Given the description of an element on the screen output the (x, y) to click on. 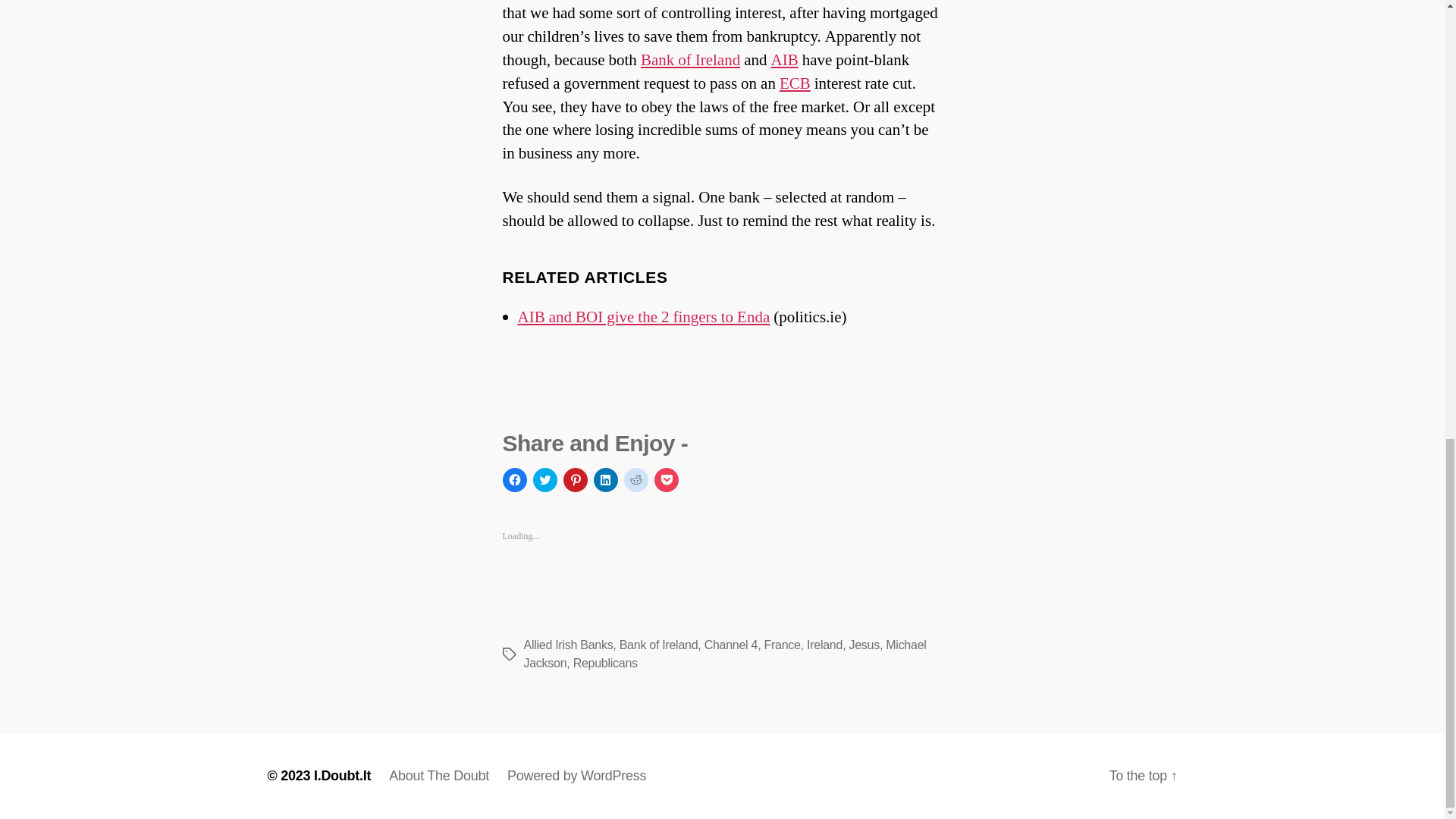
Allied Irish Banks (567, 644)
Click to share on Reddit (635, 479)
Click to share on Facebook (513, 479)
Click to share on Twitter (544, 479)
Allied Irish Banks (783, 59)
Bank of Ireland (689, 59)
Like or Reblog (722, 585)
Bank of Ireland (689, 59)
AIB (783, 59)
Click to share on Pocket (665, 479)
Click to share on LinkedIn (604, 479)
ECB (794, 83)
AIB and BOI give the 2 fingers to Enda (643, 317)
Click to share on Pinterest (574, 479)
ECB (794, 83)
